Given the description of an element on the screen output the (x, y) to click on. 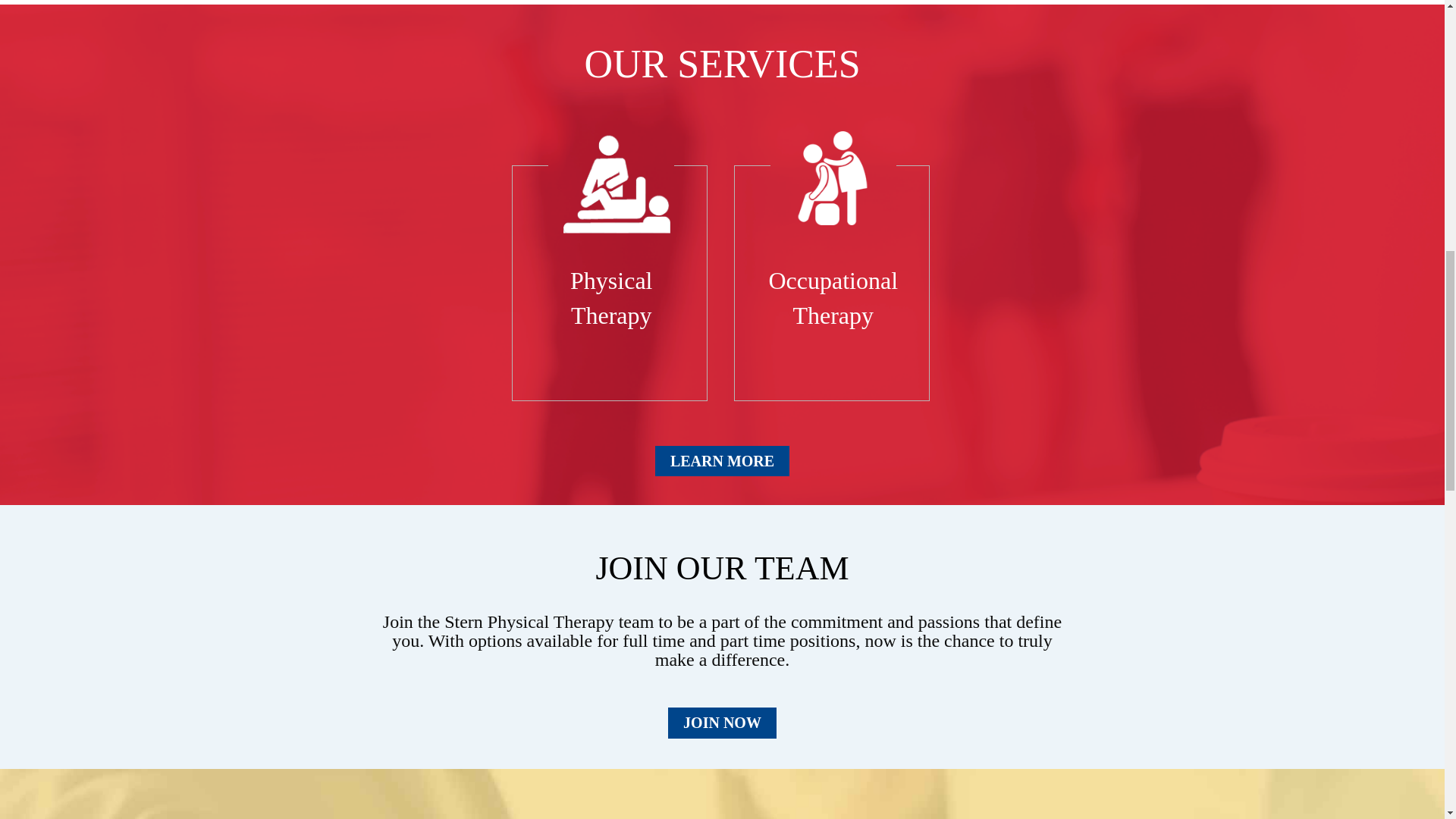
LEARN MORE (722, 459)
JOIN NOW (722, 720)
JOIN NOW (722, 722)
LEARN MORE (722, 460)
